Given the description of an element on the screen output the (x, y) to click on. 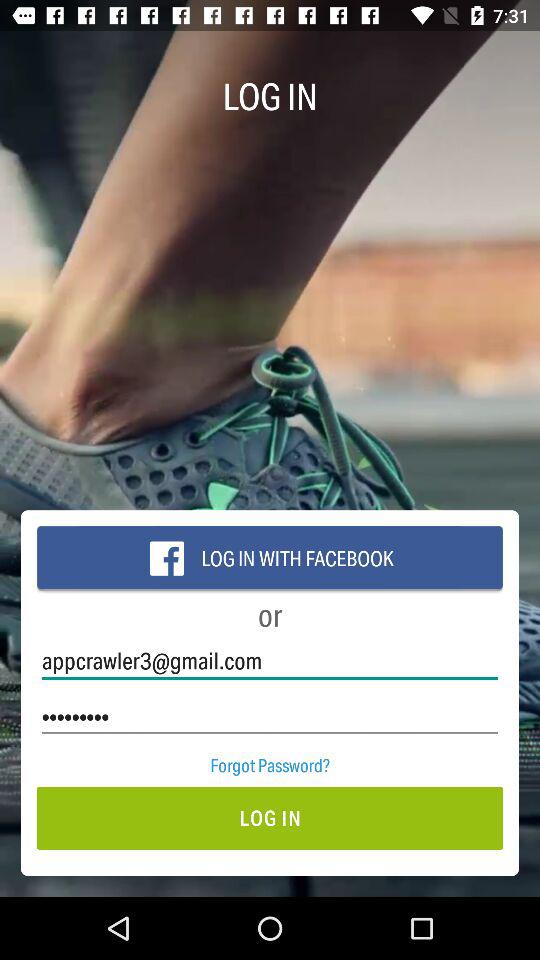
turn on item above the crowd3116 item (269, 660)
